Given the description of an element on the screen output the (x, y) to click on. 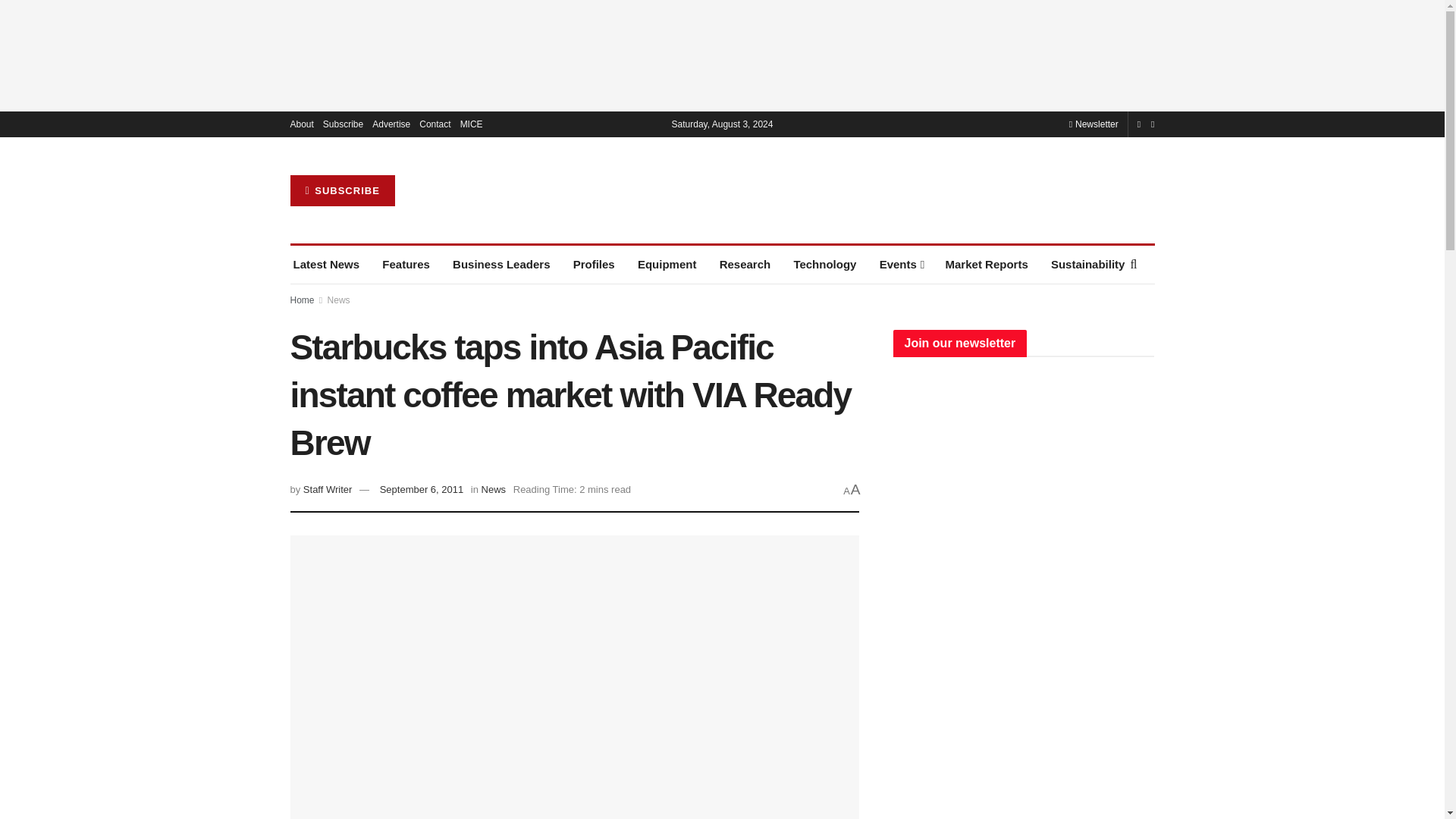
Subscribe (342, 124)
Profiles (593, 264)
Events (901, 264)
Business Leaders (501, 264)
Advertise (391, 124)
Latest News (325, 264)
Features (405, 264)
SUBSCRIBE (341, 190)
Newsletter (1093, 123)
Market Reports (986, 264)
